Given the description of an element on the screen output the (x, y) to click on. 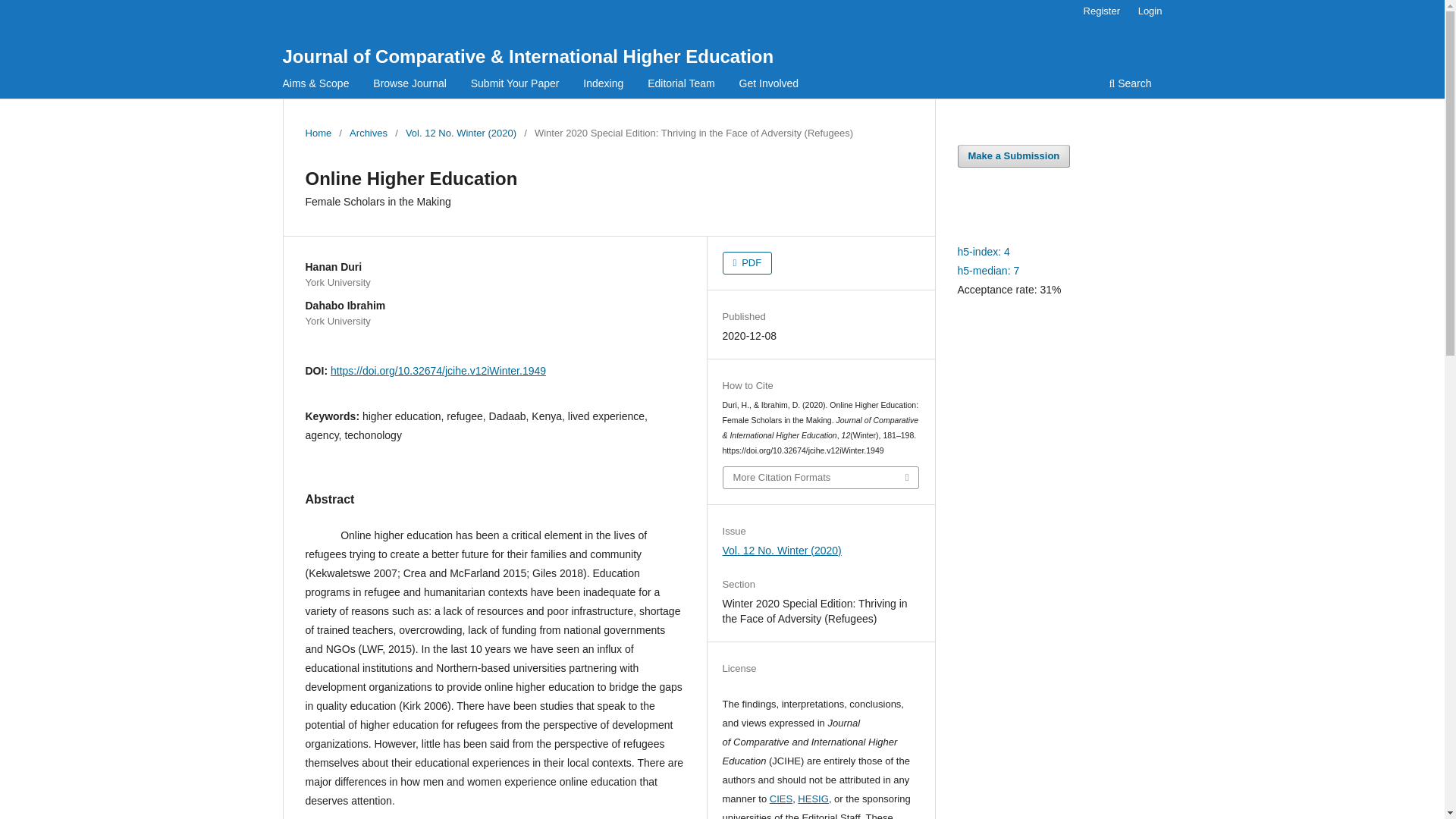
Indexing (603, 85)
Archives (368, 133)
Get Involved (769, 85)
Submit Your Paper (514, 85)
Search (1129, 85)
HESIG (812, 798)
Register (1100, 11)
Login (1150, 11)
CIES (781, 798)
PDF (747, 262)
